Given the description of an element on the screen output the (x, y) to click on. 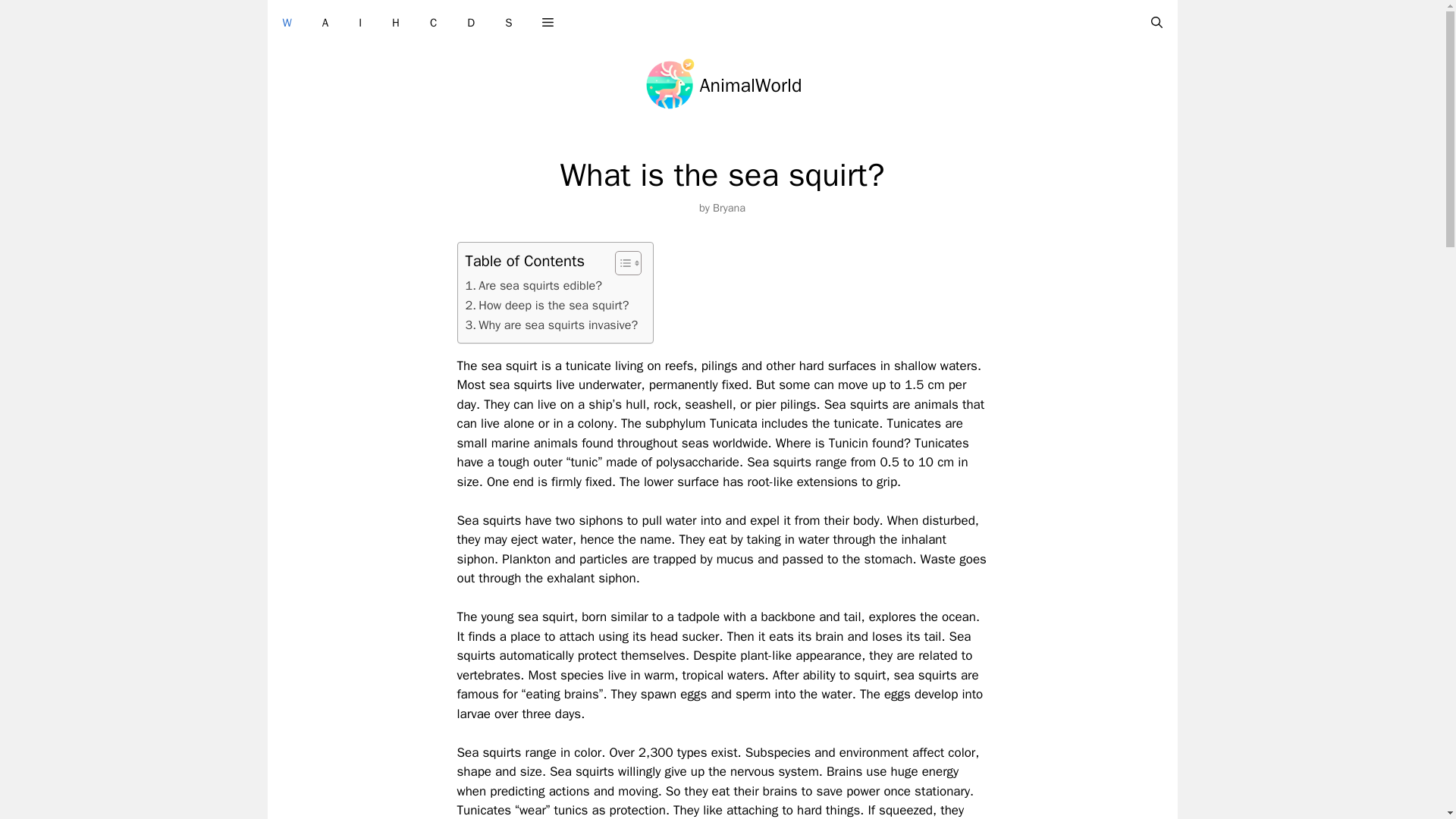
Why are sea squirts invasive? (552, 324)
View all posts by Bryana (729, 207)
Why are sea squirts invasive? (552, 324)
Are sea squirts edible? (533, 285)
Are sea squirts edible? (533, 285)
How deep is the sea squirt? (546, 305)
AnimalWorld (751, 85)
How deep is the sea squirt? (546, 305)
Bryana (729, 207)
